Given the description of an element on the screen output the (x, y) to click on. 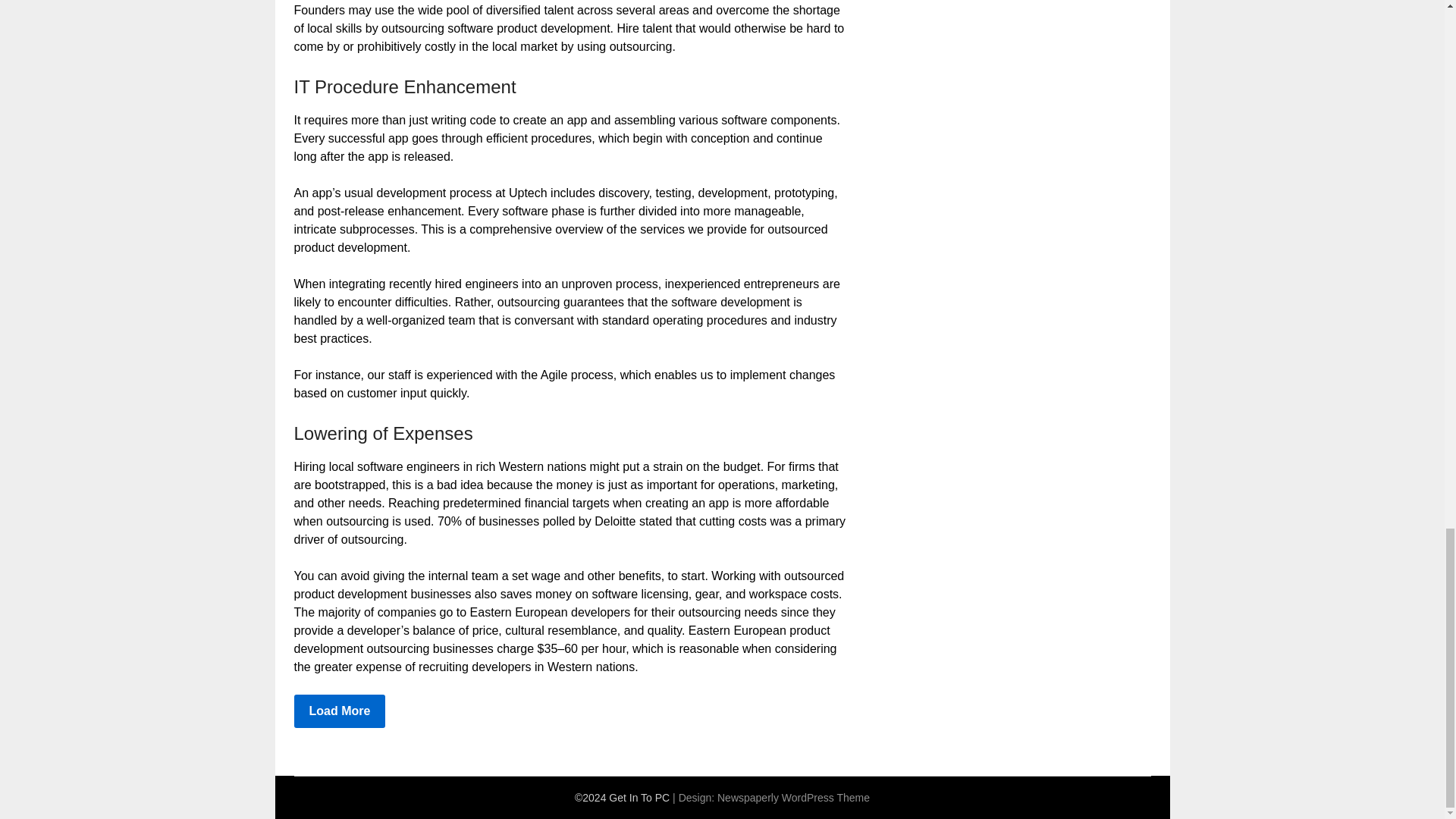
Load More (339, 711)
Newspaperly WordPress Theme (793, 797)
